Given the description of an element on the screen output the (x, y) to click on. 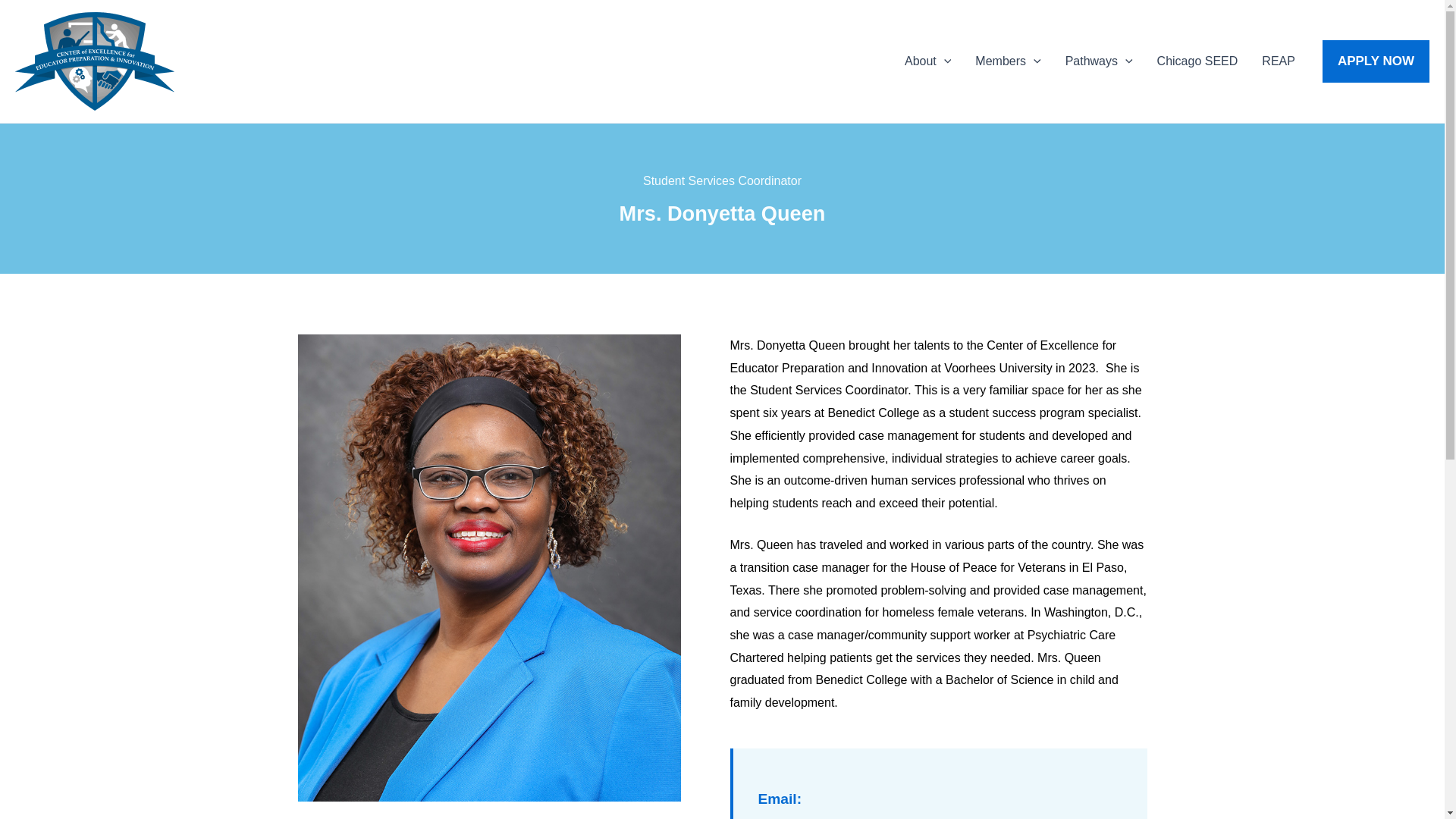
REAP (1278, 61)
Pathways (1098, 61)
Chicago SEED (1197, 61)
Members (1007, 61)
About (927, 61)
APPLY NOW (1375, 61)
